Given the description of an element on the screen output the (x, y) to click on. 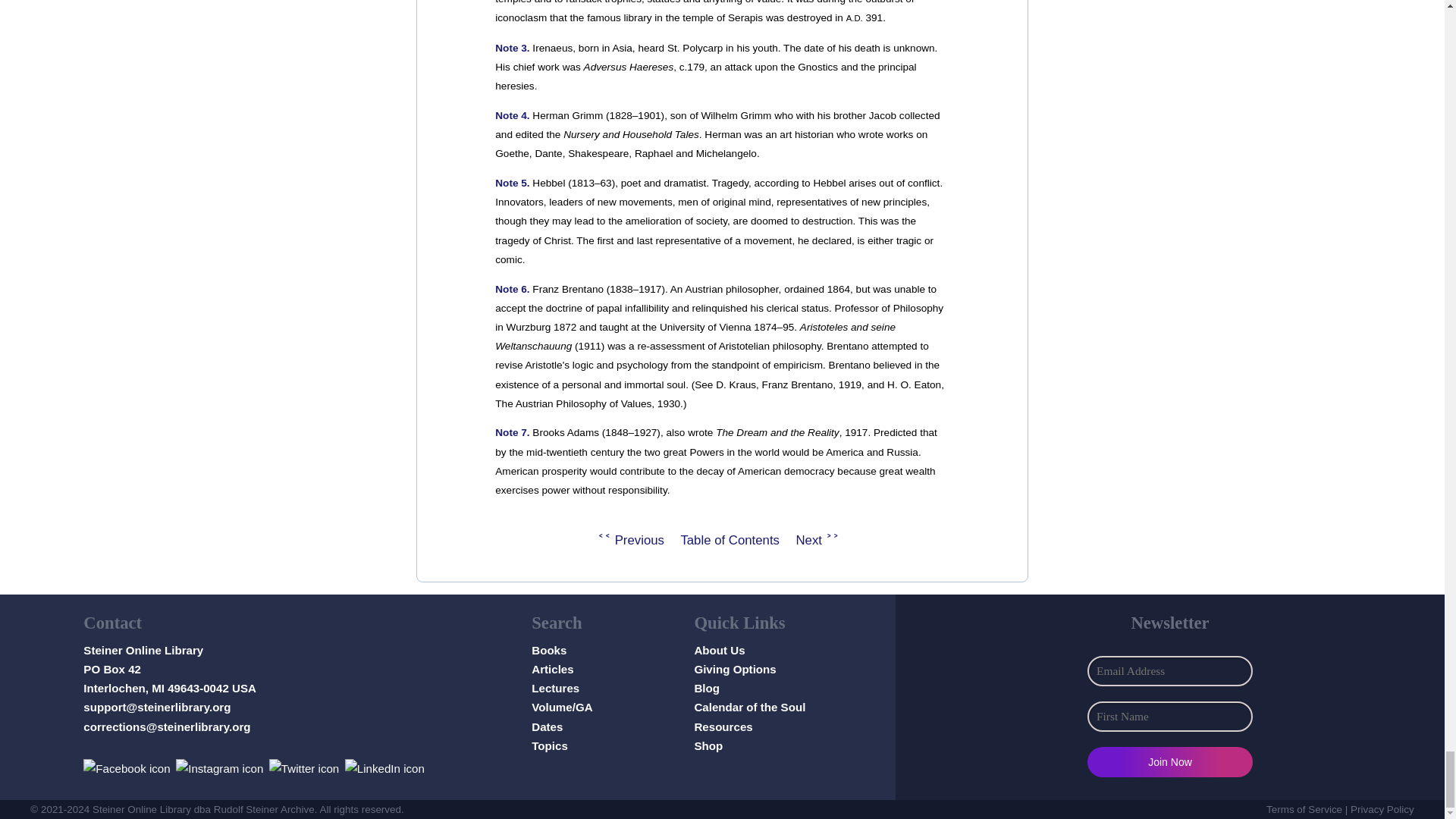
Table of Contents (730, 540)
Note 3. (512, 48)
Note 5. (512, 183)
Join Now (1169, 761)
Note 7. (512, 432)
Note 4. (512, 115)
Note 6. (512, 288)
